Given the description of an element on the screen output the (x, y) to click on. 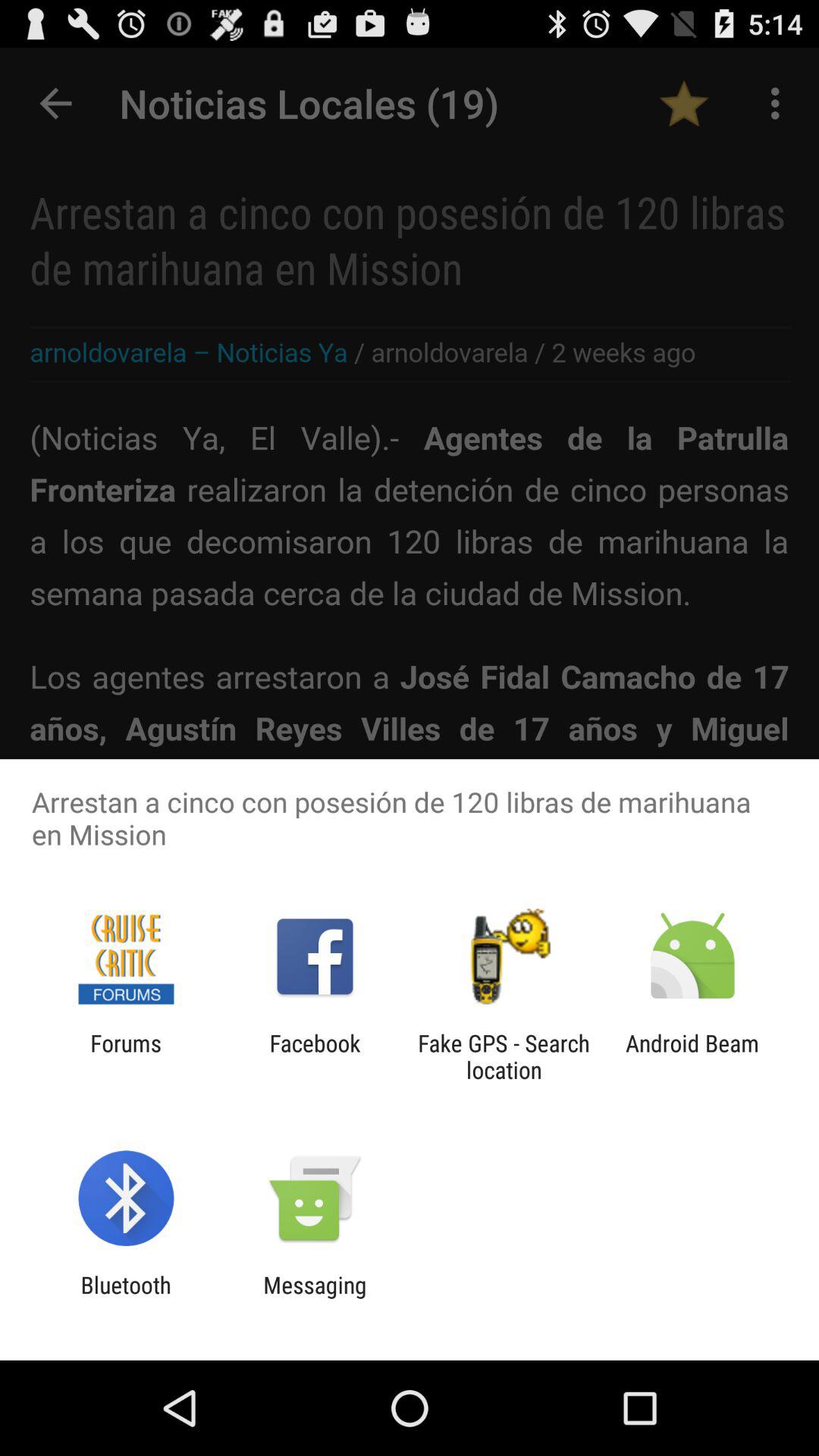
tap the facebook icon (314, 1056)
